Given the description of an element on the screen output the (x, y) to click on. 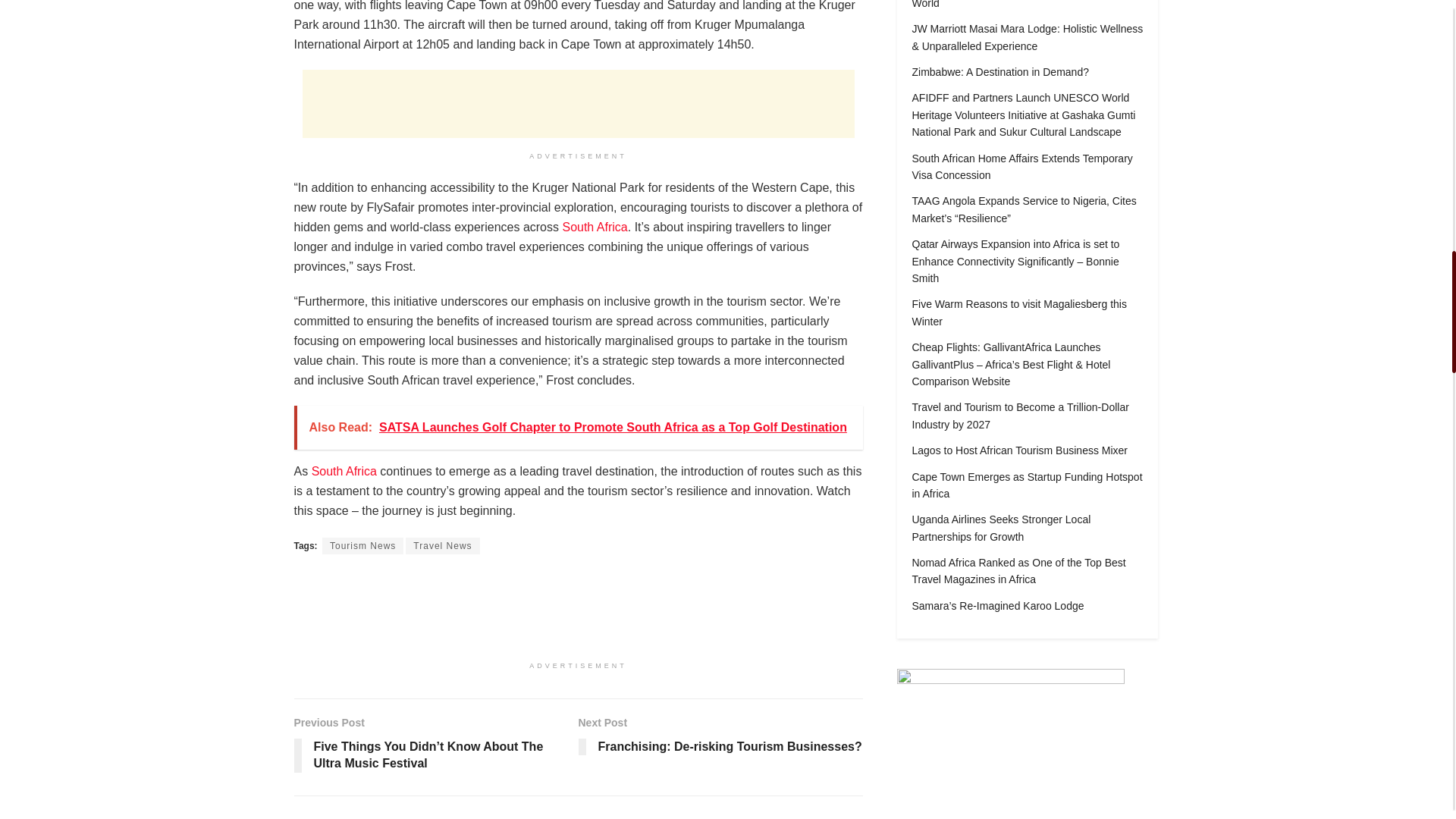
Also Read: Backpacking in South Africa (594, 226)
Also Read: Backpacking in South Africa (344, 471)
